Given the description of an element on the screen output the (x, y) to click on. 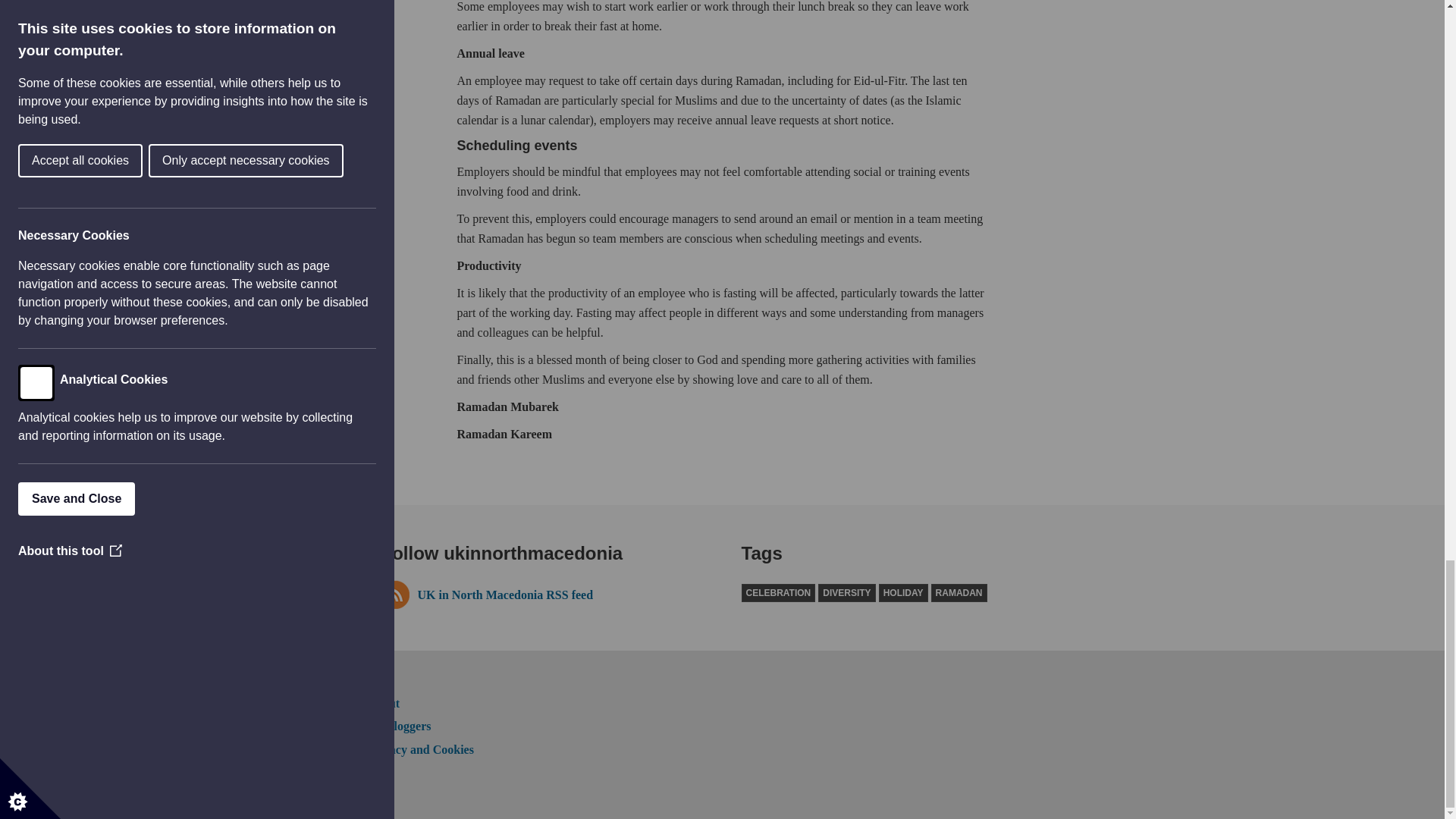
HOLIDAY (903, 592)
Ramadan Tag (959, 592)
DIVERSITY (846, 592)
holiday Tag (903, 592)
Privacy and Cookies (419, 748)
diversity Tag (846, 592)
All Bloggers (398, 725)
CELEBRATION (778, 592)
About (382, 703)
UK in North Macedonia RSS feed (541, 594)
